Given the description of an element on the screen output the (x, y) to click on. 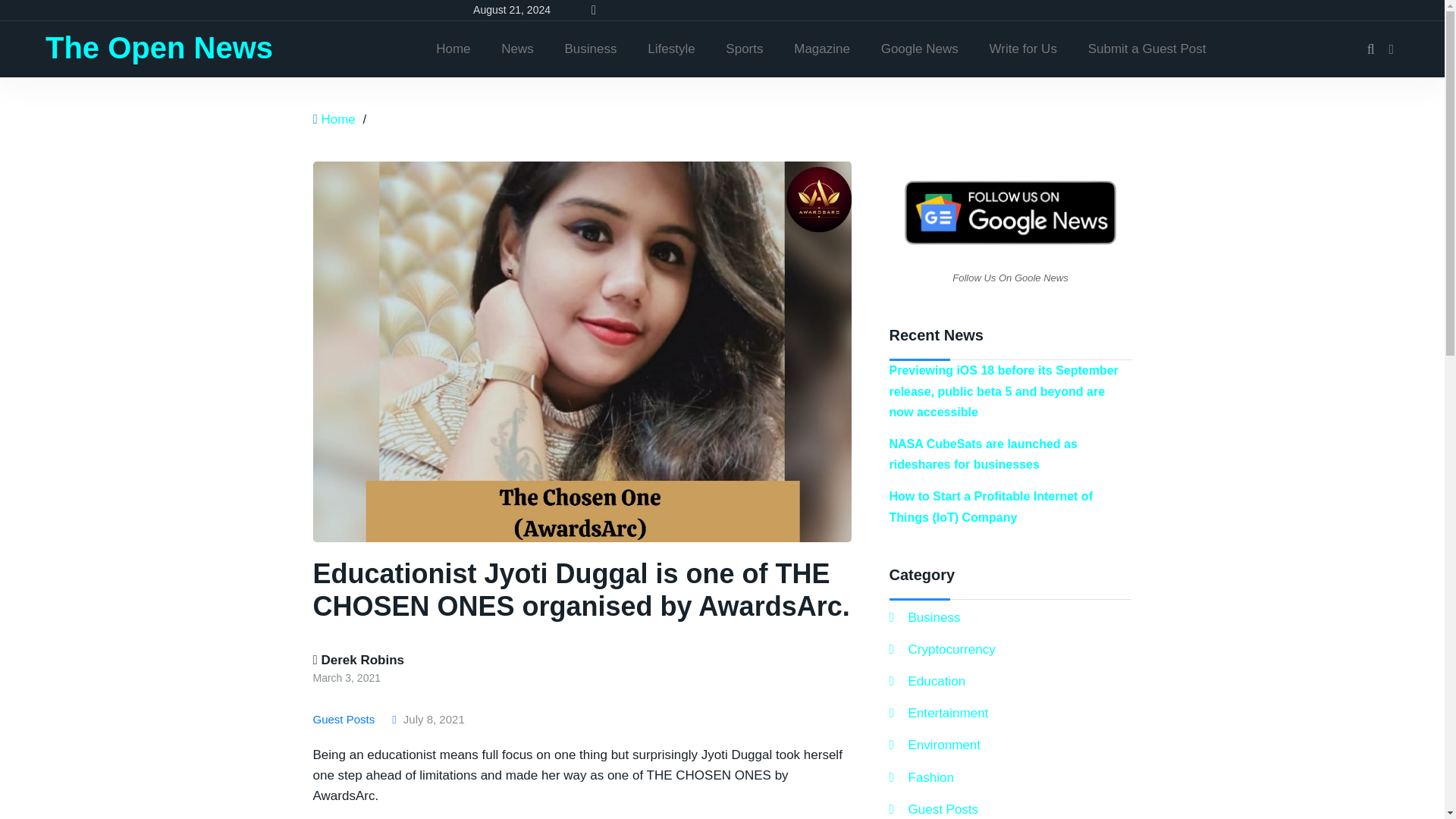
Home (452, 48)
Guest Posts (346, 719)
Lifestyle (670, 48)
Home (337, 119)
Google News (919, 48)
Fashion (920, 777)
Business (590, 48)
Submit a Guest Post (1147, 48)
Derek Robins (358, 659)
